Given the description of an element on the screen output the (x, y) to click on. 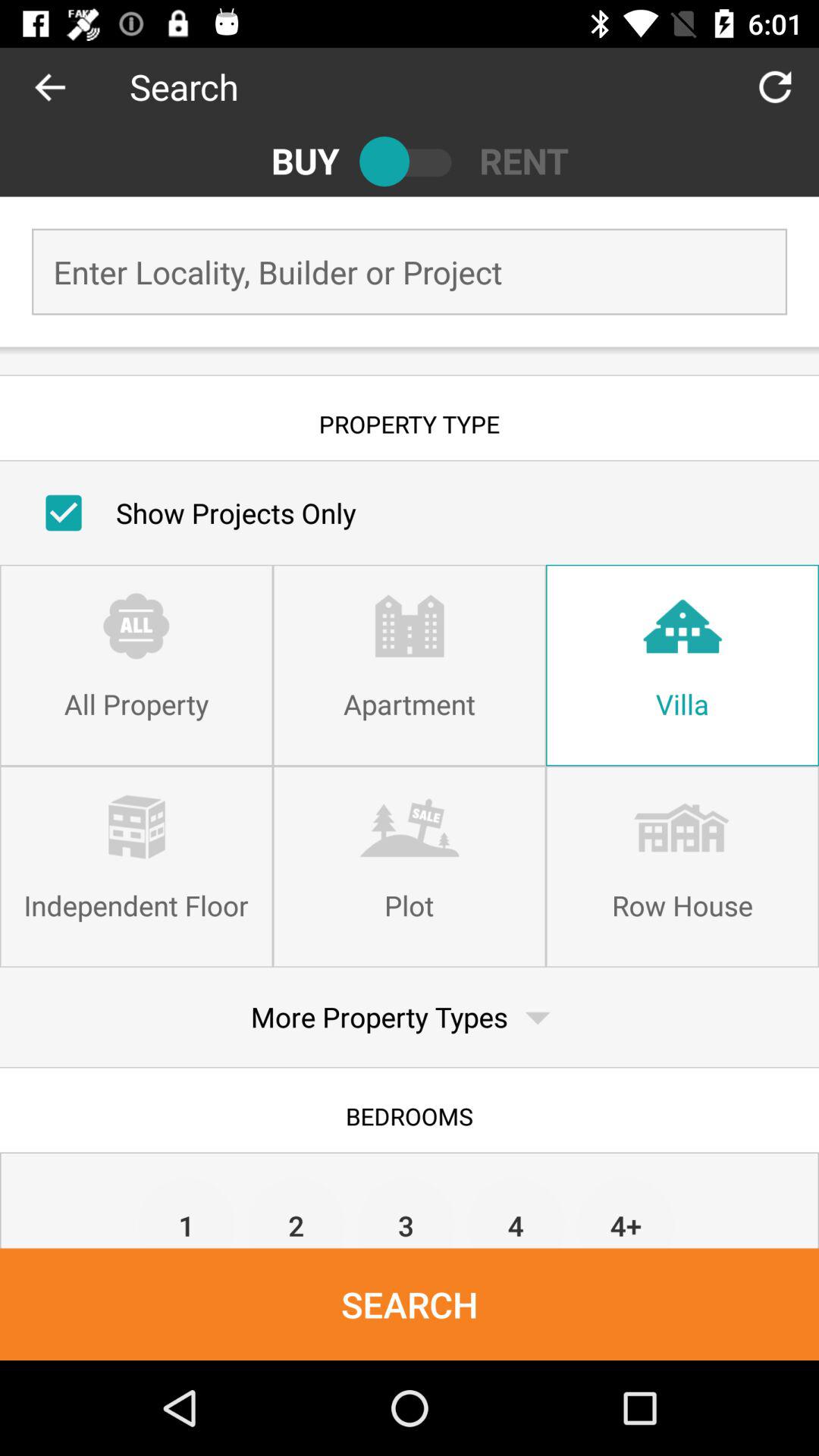
tap item next to the 2 icon (186, 1212)
